Given the description of an element on the screen output the (x, y) to click on. 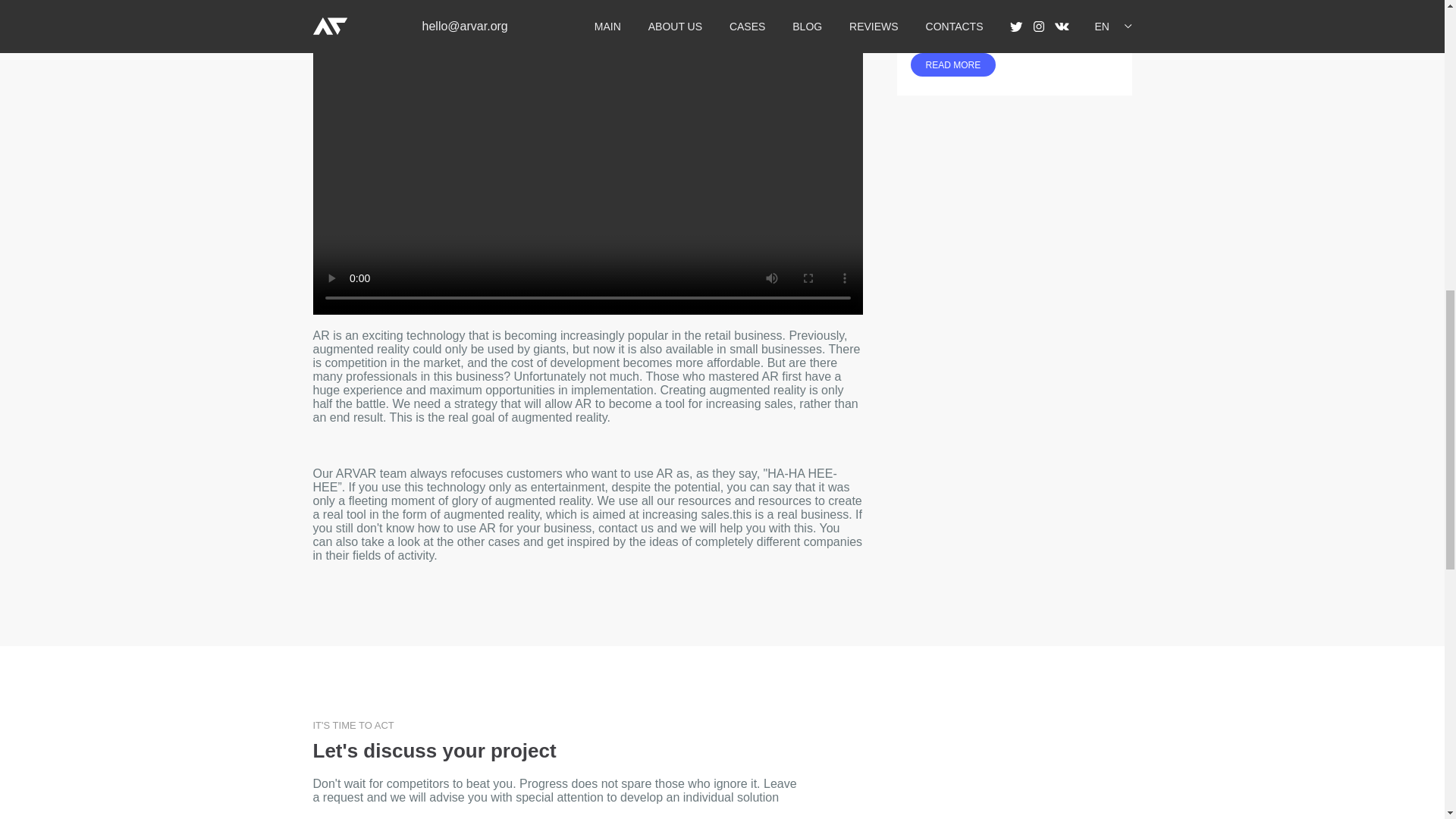
READ MORE (952, 64)
